Given the description of an element on the screen output the (x, y) to click on. 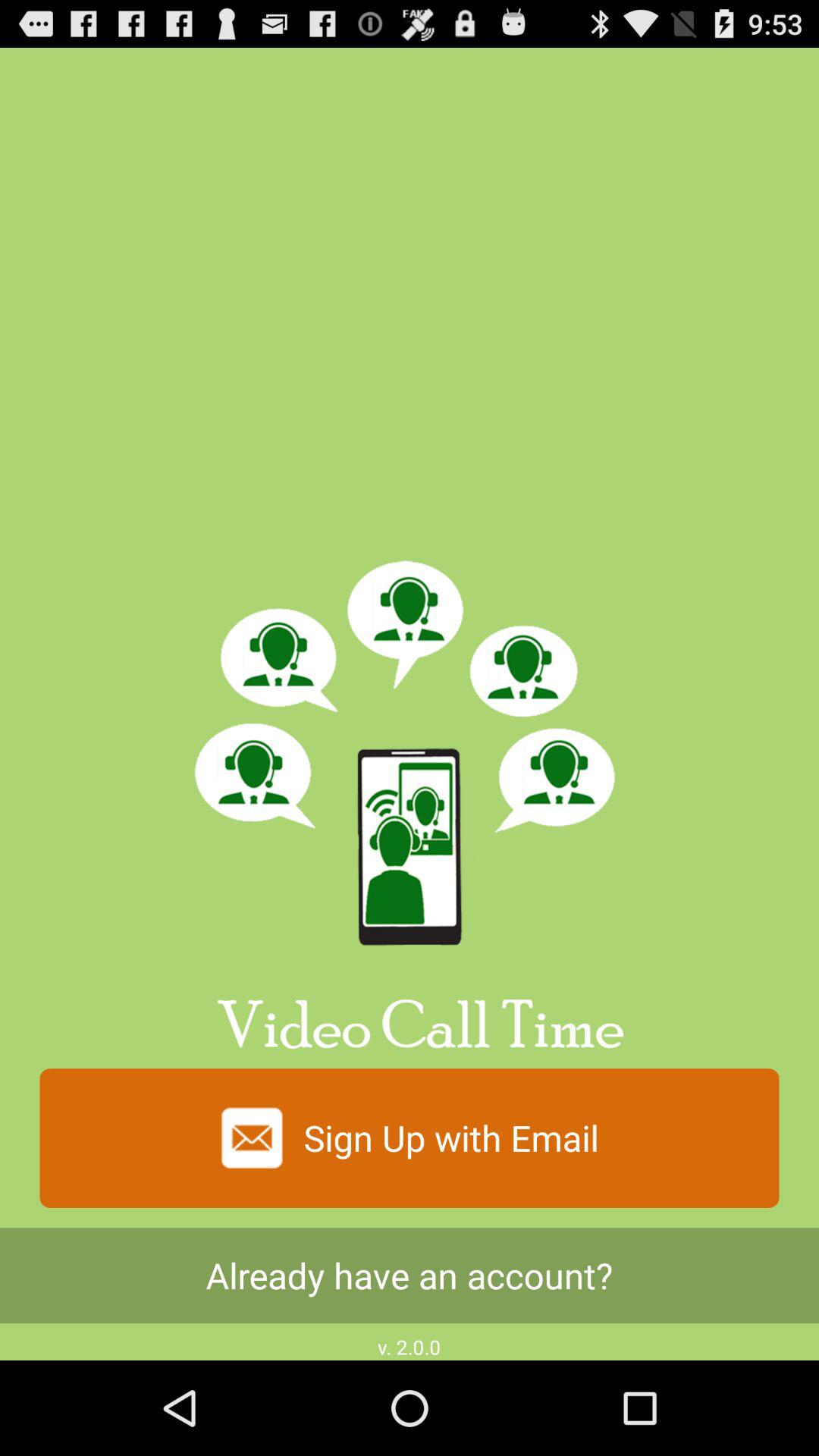
jump to the already have an icon (409, 1275)
